Given the description of an element on the screen output the (x, y) to click on. 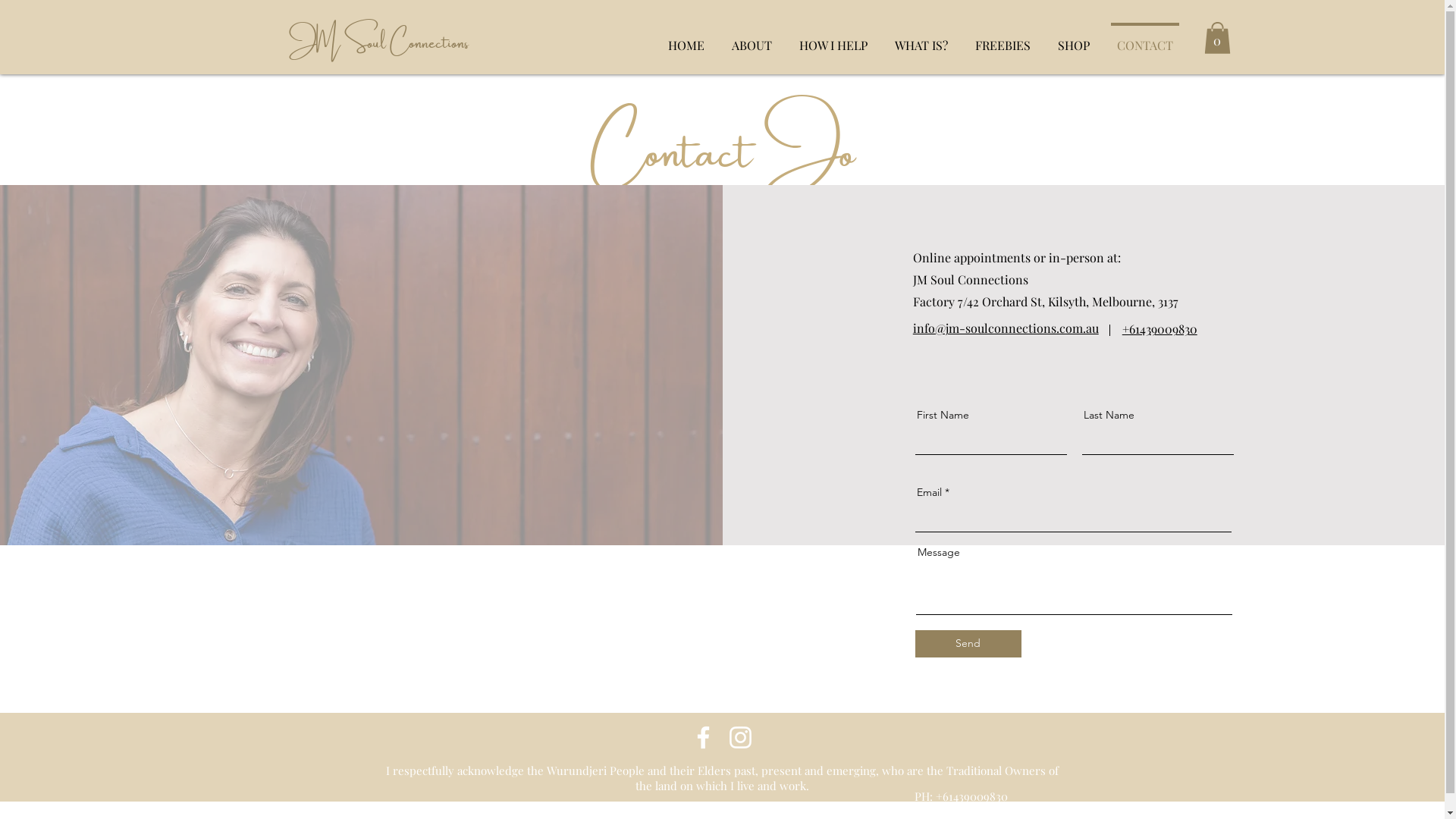
+61439009830 Element type: text (971, 795)
info@jm-soulconnections.com.au Element type: text (1005, 327)
Google Maps Element type: hover (722, 629)
FREEBIES Element type: text (1002, 37)
ABOUT Element type: text (750, 37)
CONTACT Element type: text (1144, 37)
HOME Element type: text (685, 37)
0 Element type: text (1217, 37)
Send Element type: text (968, 643)
+61439009830 Element type: text (1159, 328)
SHOP Element type: text (1072, 37)
